Given the description of an element on the screen output the (x, y) to click on. 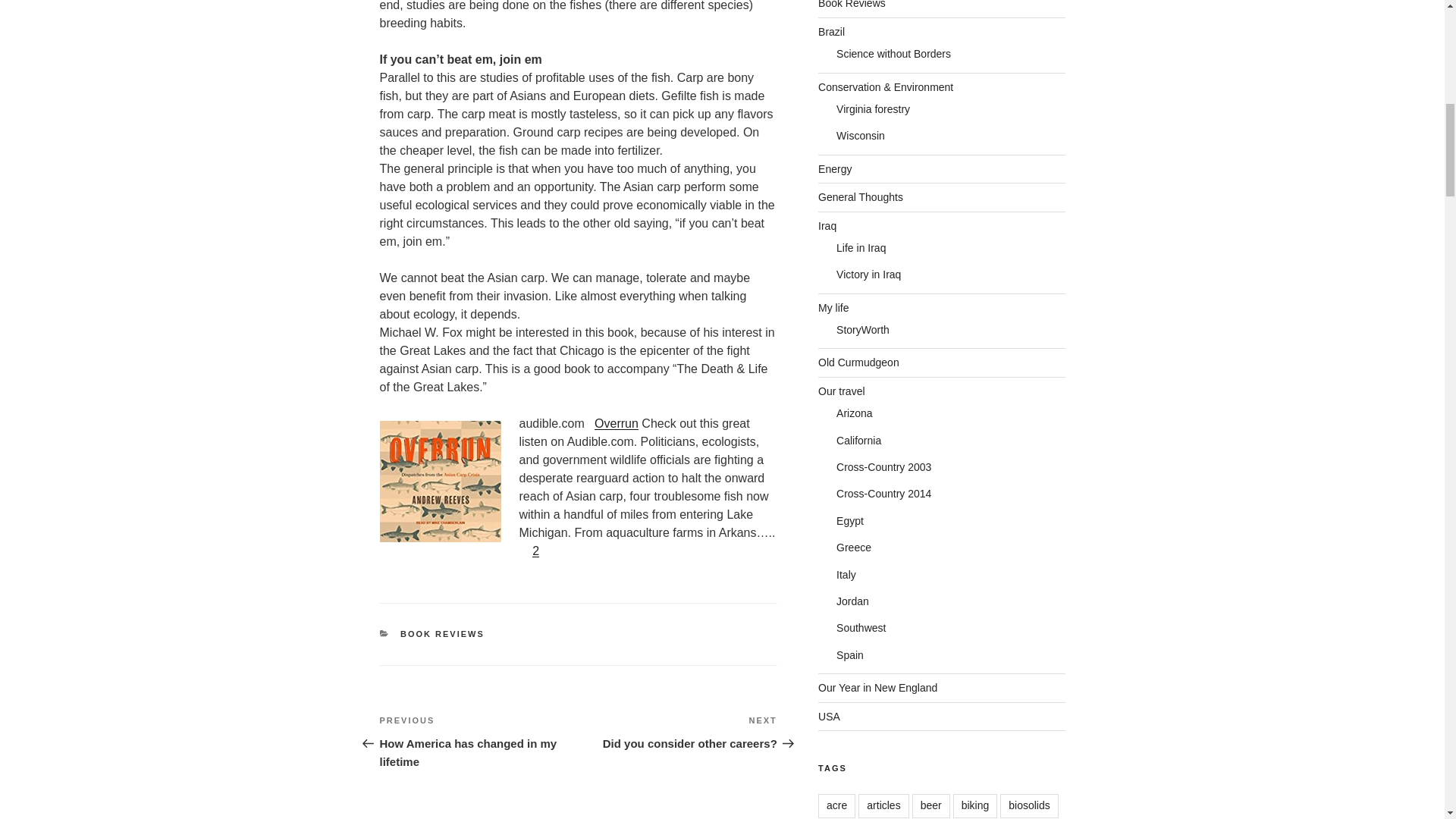
Egypt (849, 521)
Virginia forestry (677, 732)
Victory in Iraq (872, 109)
Overrun (868, 274)
Old Curmudgeon (616, 422)
Book Reviews (858, 362)
Our travel (851, 4)
BOOK REVIEWS (841, 390)
Italy (442, 633)
